Given the description of an element on the screen output the (x, y) to click on. 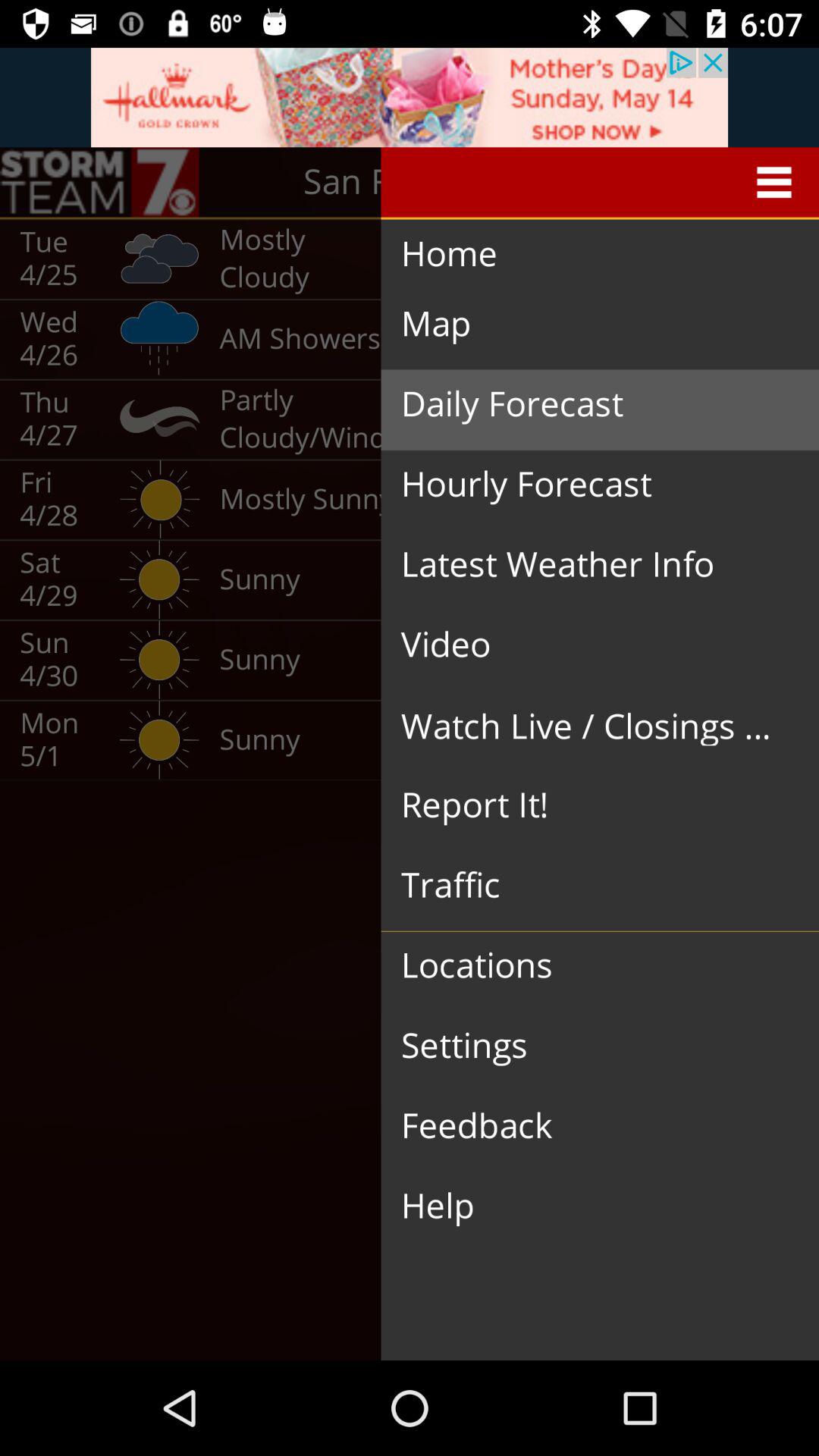
click the icon to the right of sunny item (587, 805)
